Given the description of an element on the screen output the (x, y) to click on. 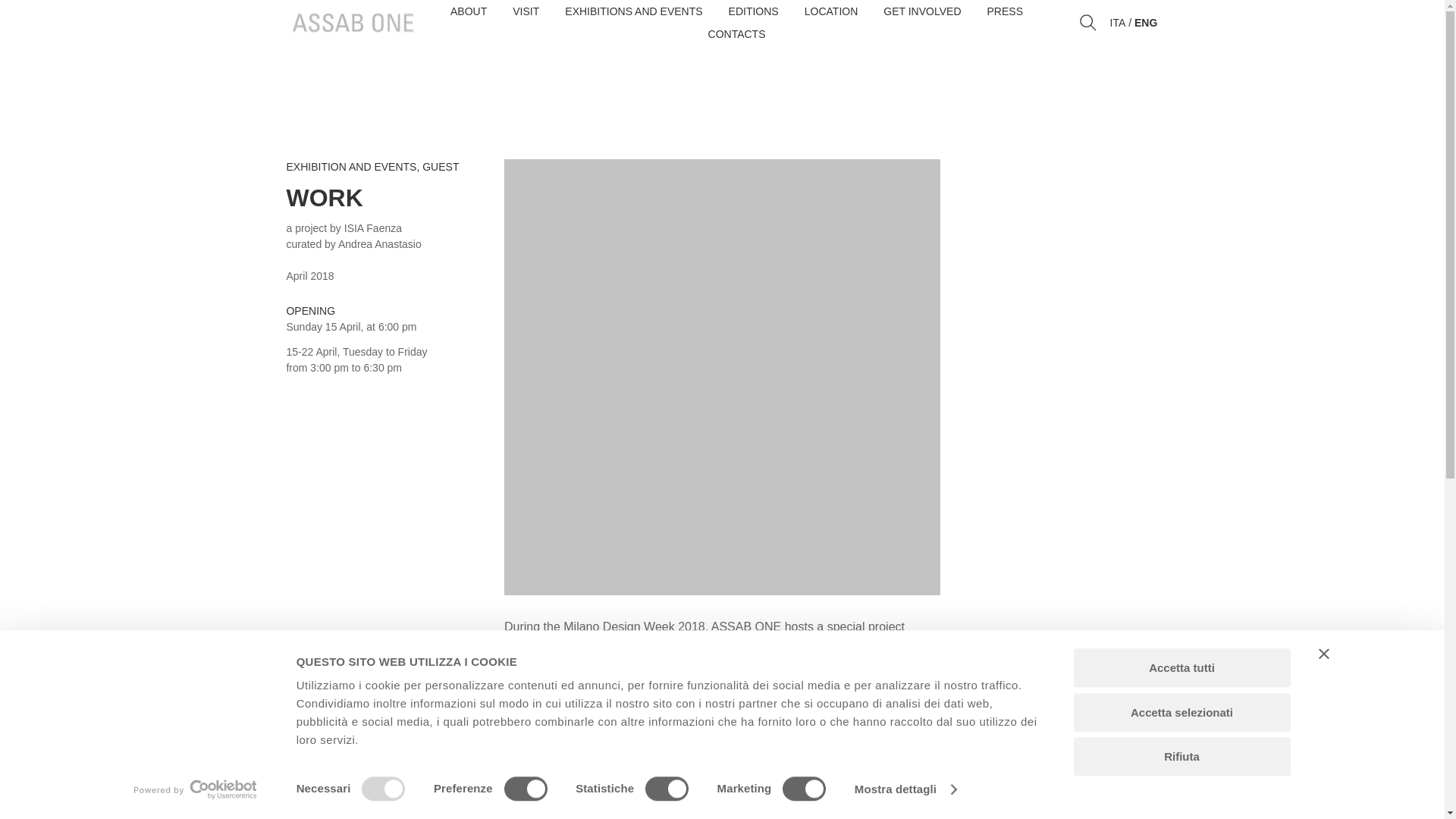
homepage - Assab One (352, 22)
Accetta tutti (1182, 667)
Rifiuta (1182, 756)
Mostra dettagli (905, 789)
Accetta selezionati (1182, 712)
